Given the description of an element on the screen output the (x, y) to click on. 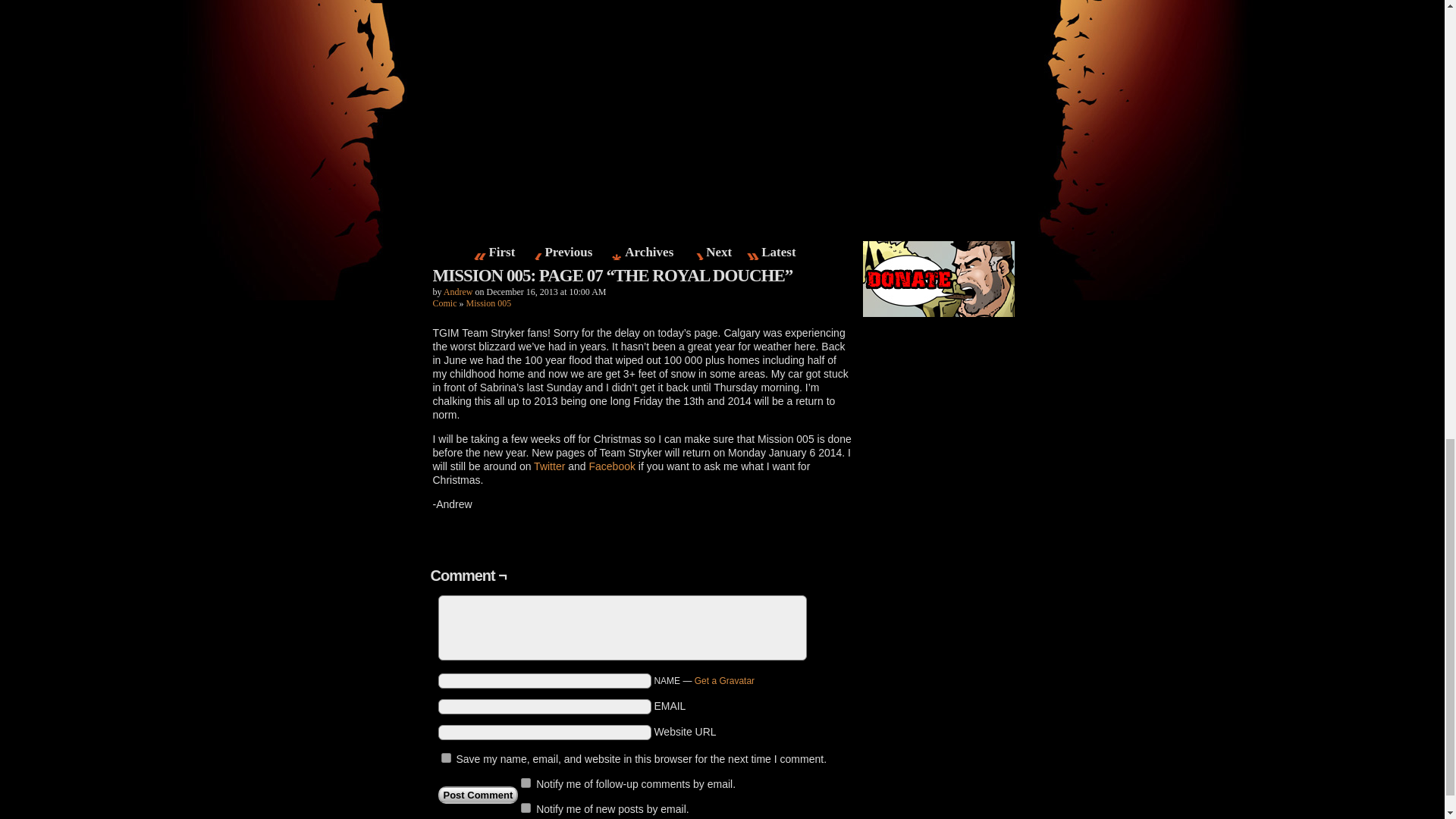
yes (446, 757)
Comic (444, 303)
Archives (649, 252)
Get a Gravatar (724, 680)
Next (718, 252)
Archives (649, 252)
Post Comment (478, 794)
Latest (778, 252)
subscribe (526, 808)
Latest (778, 252)
